Given the description of an element on the screen output the (x, y) to click on. 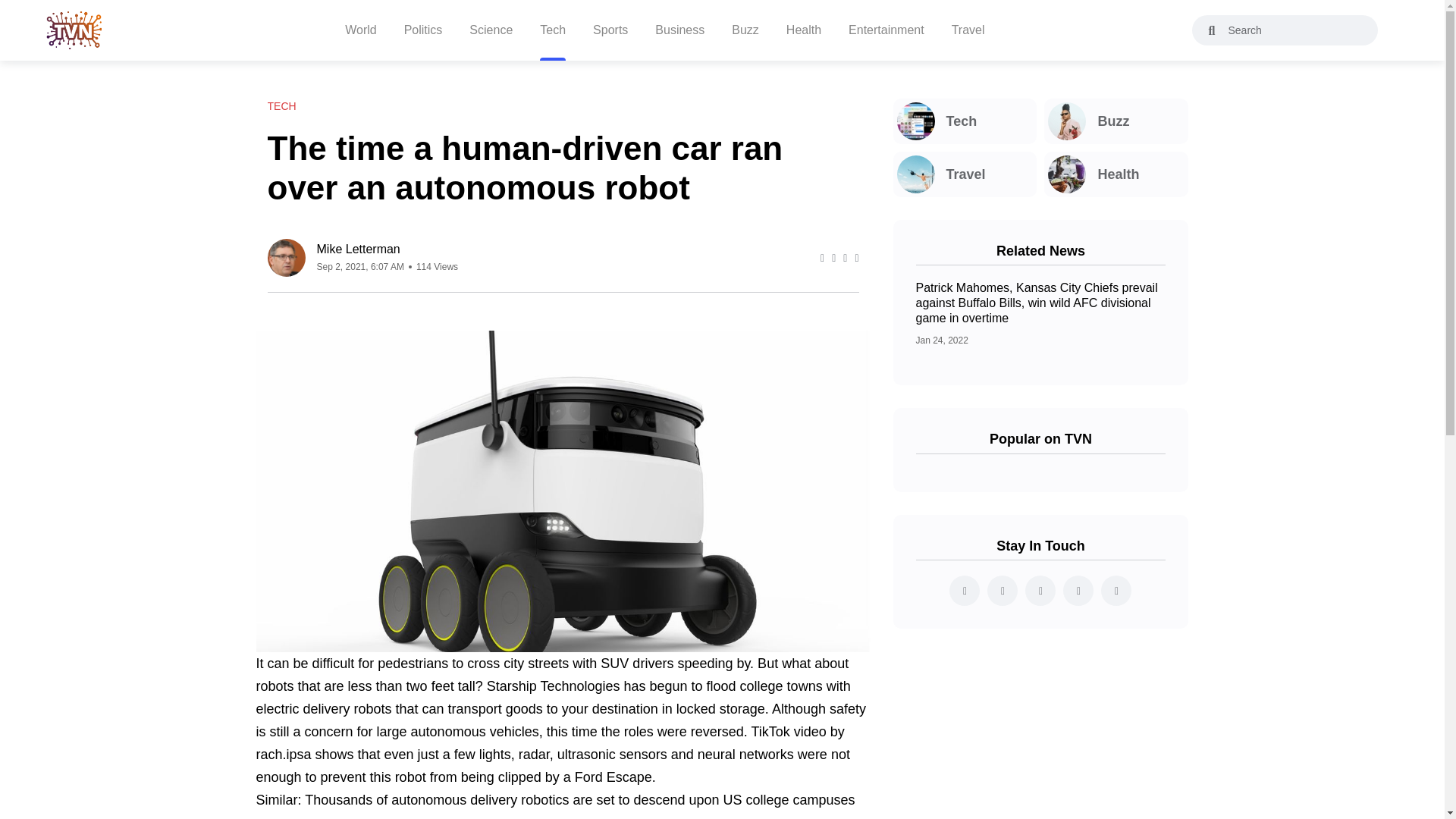
Mike Letterman (387, 249)
Health (1115, 174)
Entertainment (886, 30)
Buzz (1115, 121)
Tech (964, 121)
Travel (964, 174)
TECH (280, 105)
